Given the description of an element on the screen output the (x, y) to click on. 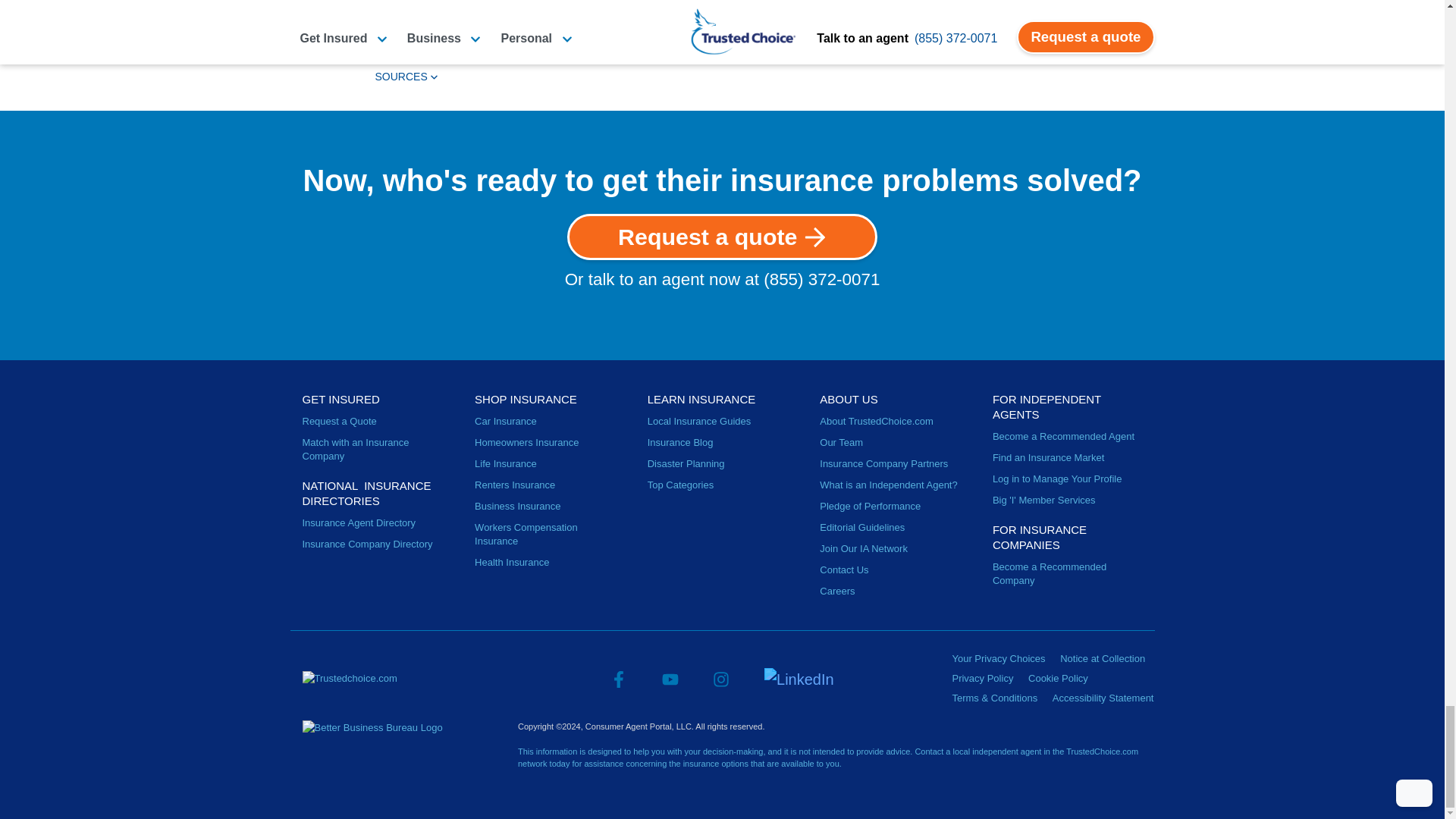
LinkedIn (799, 677)
Instagram (721, 677)
Facebook (618, 677)
YouTube (670, 677)
